Given the description of an element on the screen output the (x, y) to click on. 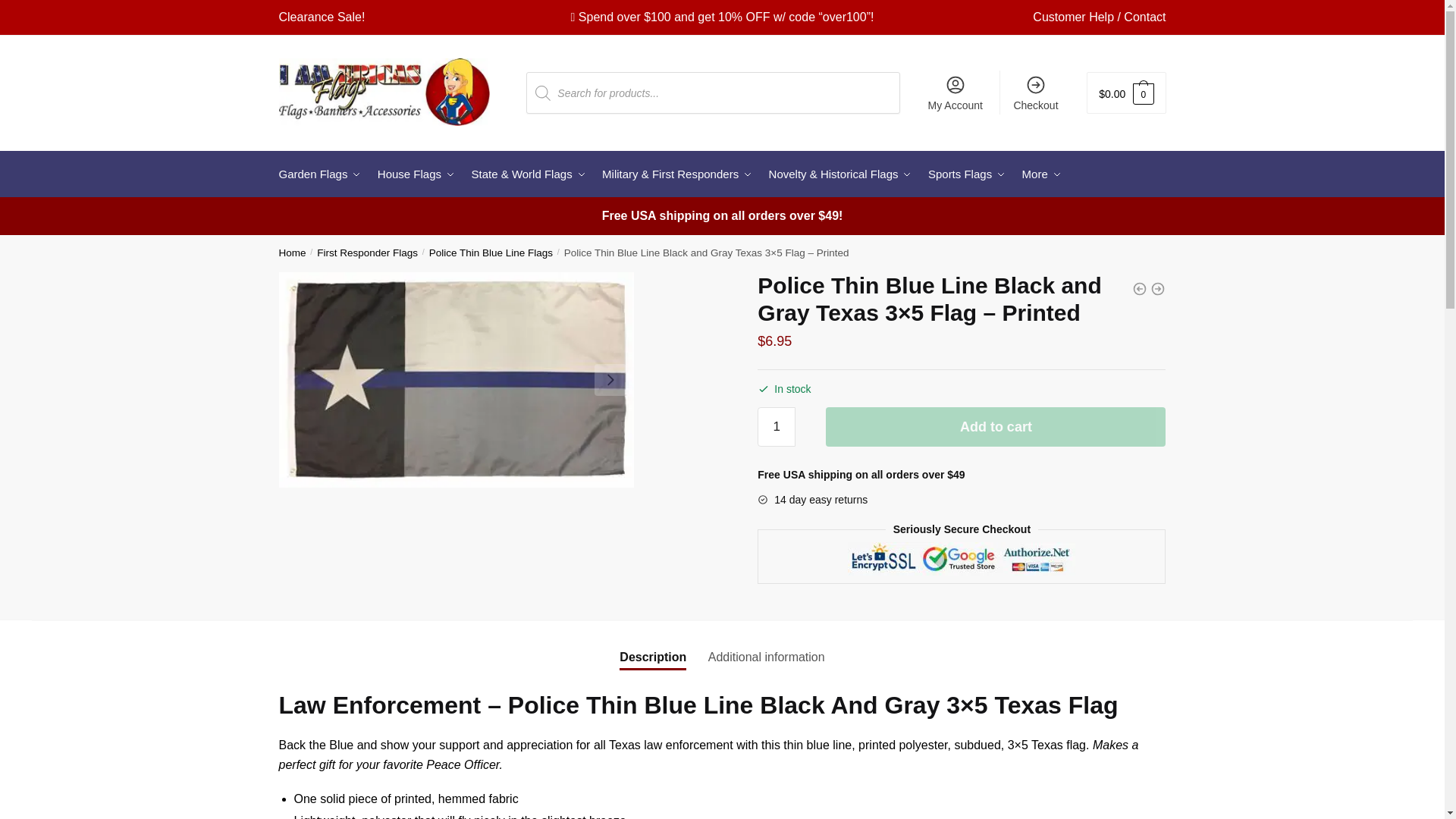
click to zoom-in (456, 379)
Checkout (1035, 92)
View your shopping cart (1126, 92)
1 (775, 426)
Garden Flags (323, 174)
My Account (954, 92)
Clearance Sale! (322, 16)
